Given the description of an element on the screen output the (x, y) to click on. 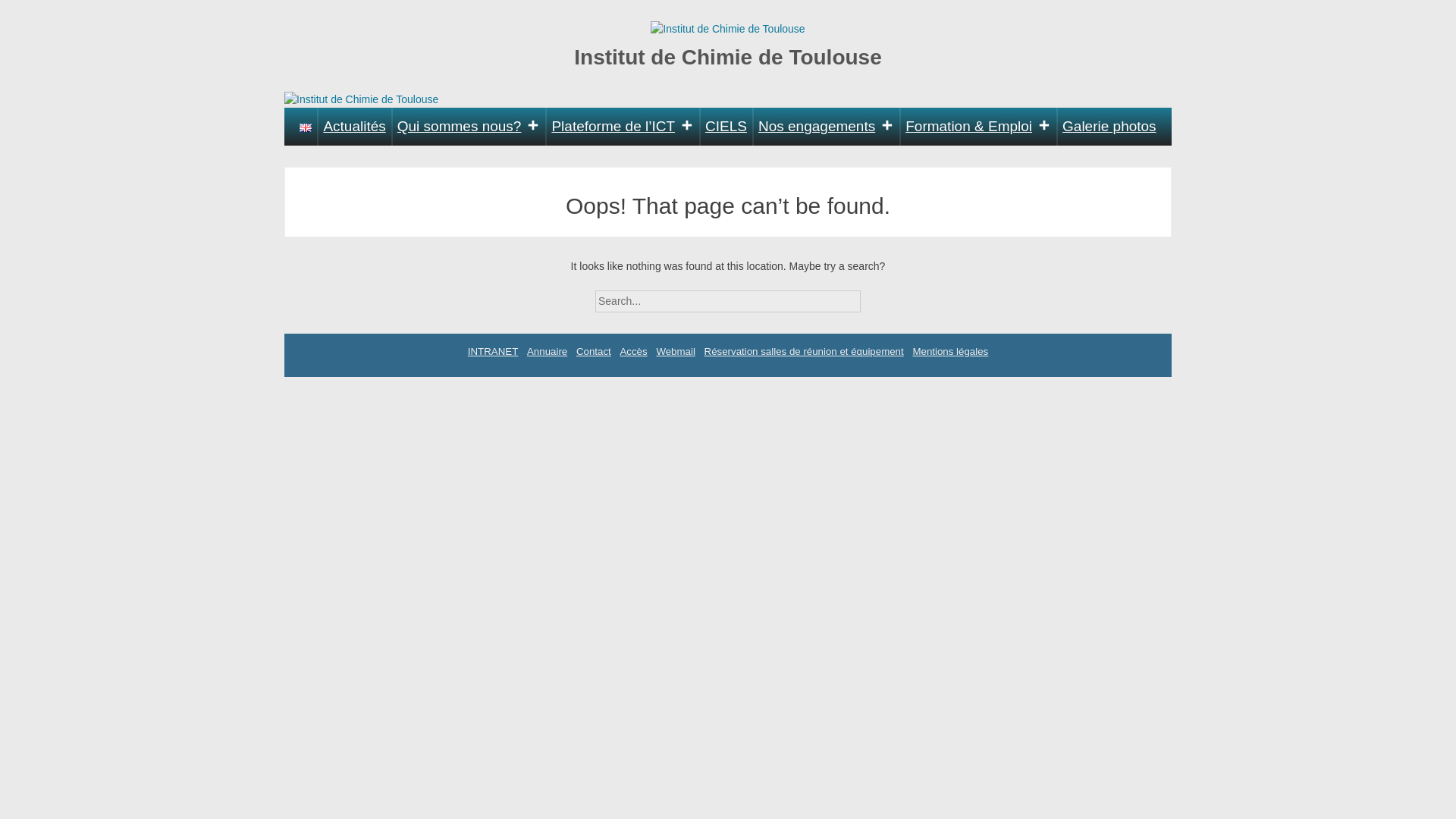
Qui sommes nous? (468, 126)
CIELS (726, 126)
Search (873, 296)
Nos engagements (825, 126)
Institut de Chimie de Toulouse (727, 57)
Search (873, 296)
